Given the description of an element on the screen output the (x, y) to click on. 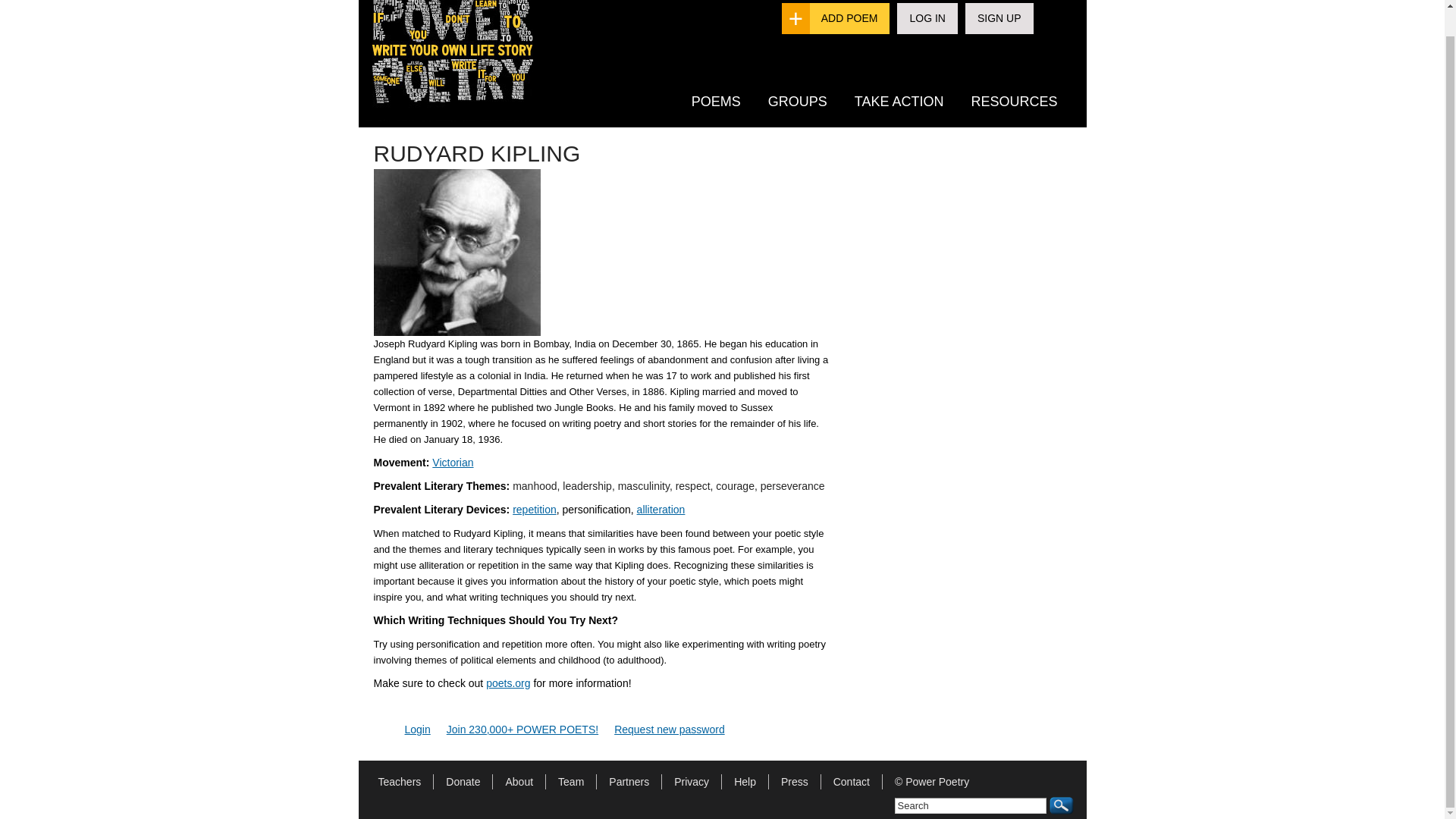
Victorian (452, 462)
GROUPS (797, 100)
TAKE ACTION (899, 100)
ADD POEM (849, 18)
alliteration (661, 509)
Search (970, 805)
repetition (534, 509)
LOG IN (926, 18)
RESOURCES (1013, 100)
POEMS (716, 100)
SIGN UP (999, 18)
poets.org (507, 683)
